Given the description of an element on the screen output the (x, y) to click on. 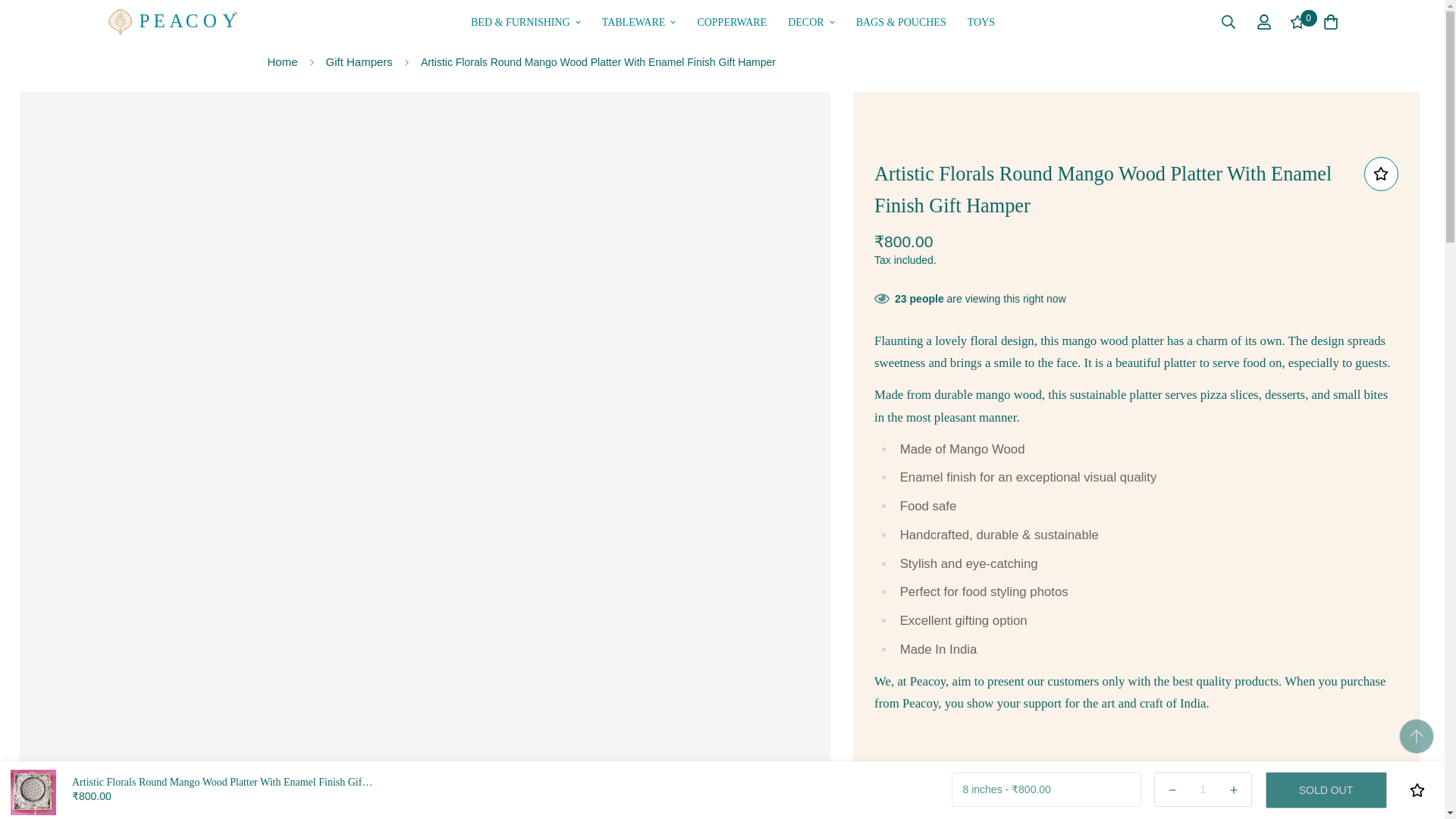
TOYS (981, 22)
Peacoy (171, 21)
COPPERWARE (731, 22)
Back to the home page (281, 62)
TABLEWARE (639, 22)
DECOR (810, 22)
